Given the description of an element on the screen output the (x, y) to click on. 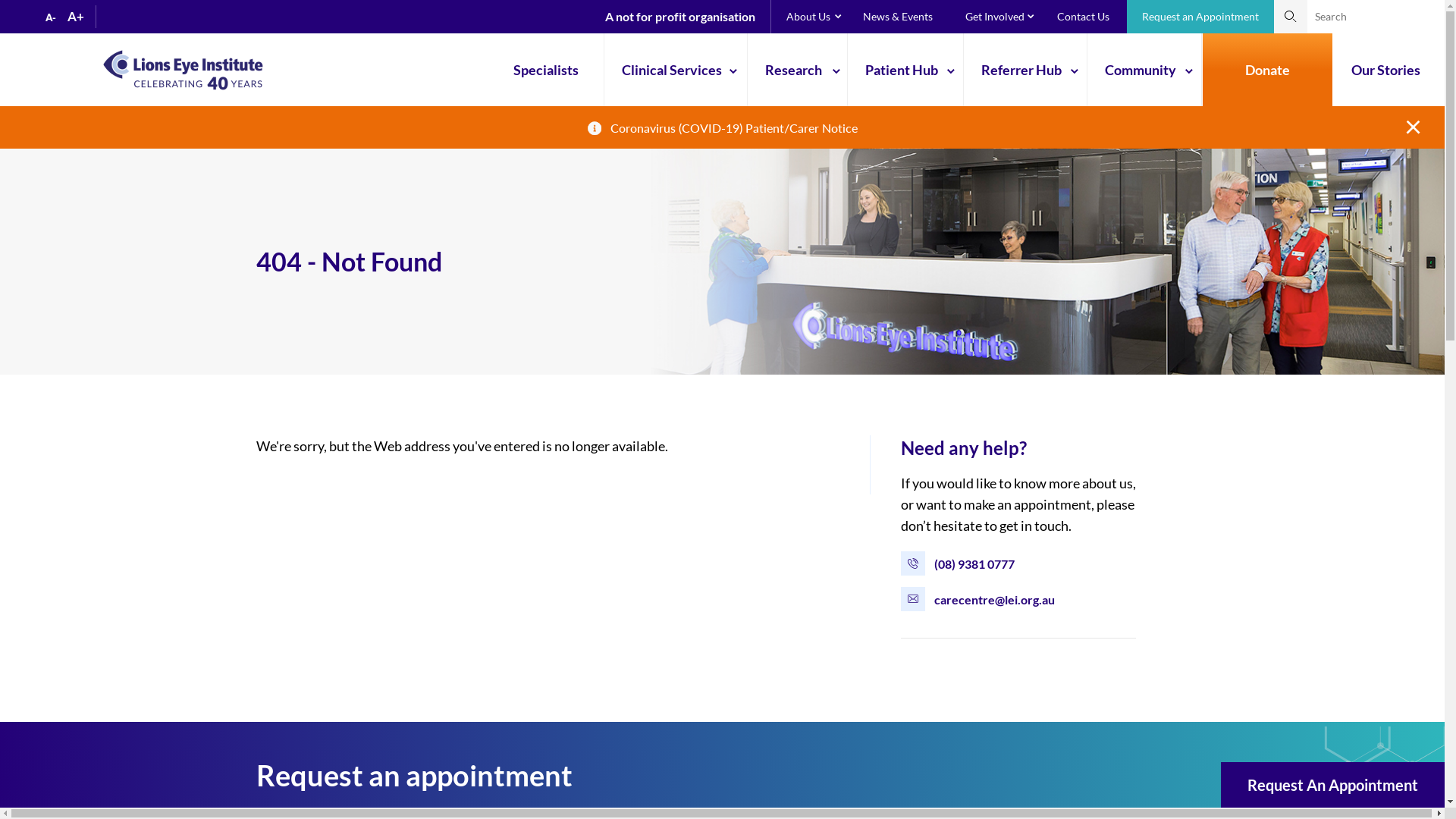
Our Stories Element type: text (1389, 69)
(08) 9381 0777 Element type: text (974, 563)
carecentre@lei.org.au Element type: text (994, 599)
Patient Hub Element type: text (905, 69)
Request an Appointment Element type: text (1200, 16)
News & Events Element type: text (897, 16)
Research Element type: text (797, 69)
A- Element type: text (50, 17)
Coronavirus (COVID-19) Patient/Carer Notice Element type: text (732, 127)
Clinical Services Element type: text (675, 69)
Contact Us Element type: text (1082, 16)
Referrer Hub Element type: text (1024, 69)
About Us Element type: text (808, 16)
Request An Appointment Element type: text (1332, 784)
Community Element type: text (1144, 69)
Donate Element type: text (1267, 69)
Get Involved Element type: text (994, 16)
Lions Eye Institute Logo Element type: hover (182, 67)
Submit Element type: text (1290, 16)
A+ Element type: text (75, 16)
Specialists Element type: text (549, 69)
